Given the description of an element on the screen output the (x, y) to click on. 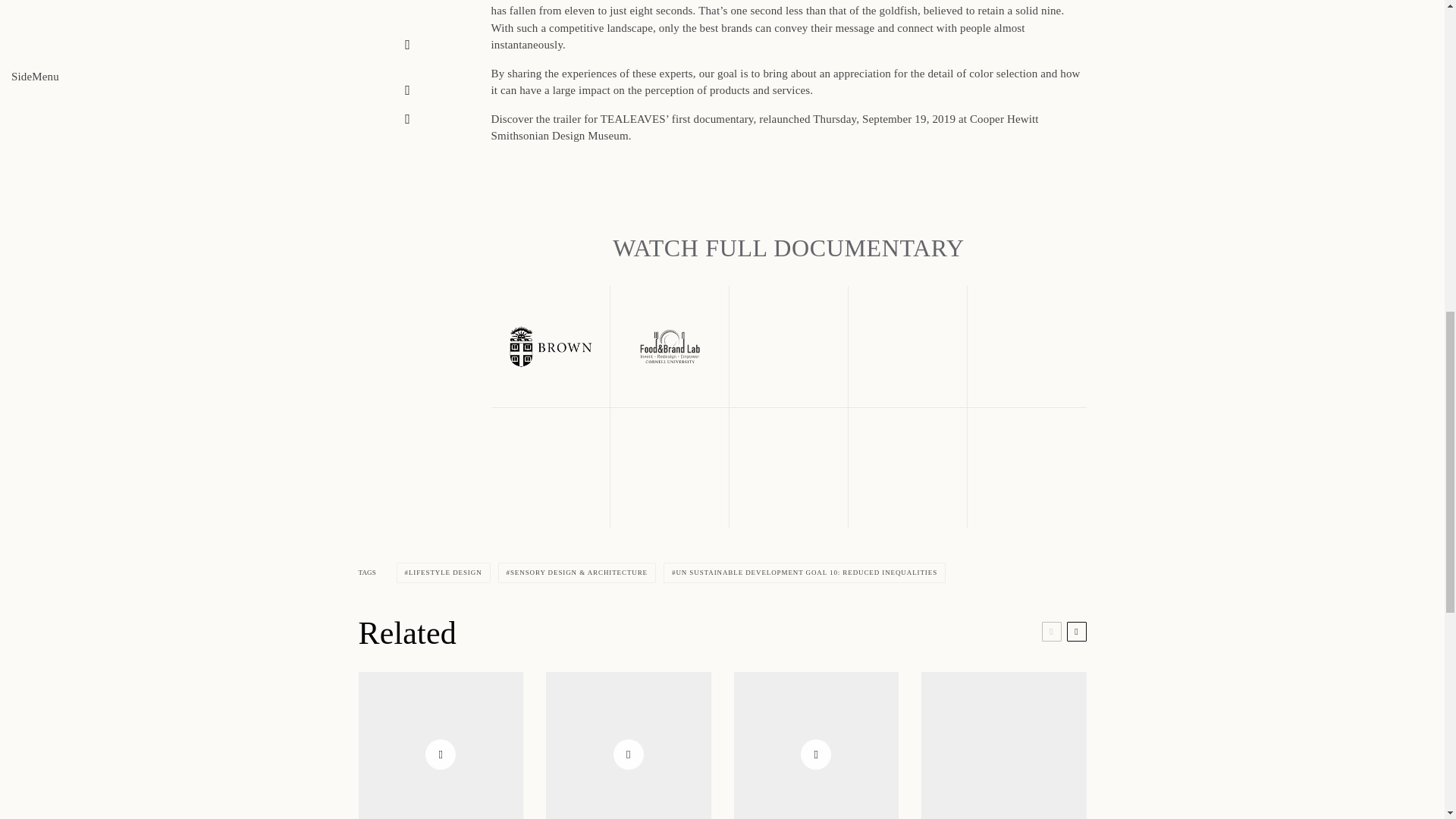
WATCH FULL DOCUMENTARY (787, 247)
LIFESTYLE DESIGN (442, 572)
UN SUSTAINABLE DEVELOPMENT GOAL 10: REDUCED INEQUALITIES (803, 572)
